Given the description of an element on the screen output the (x, y) to click on. 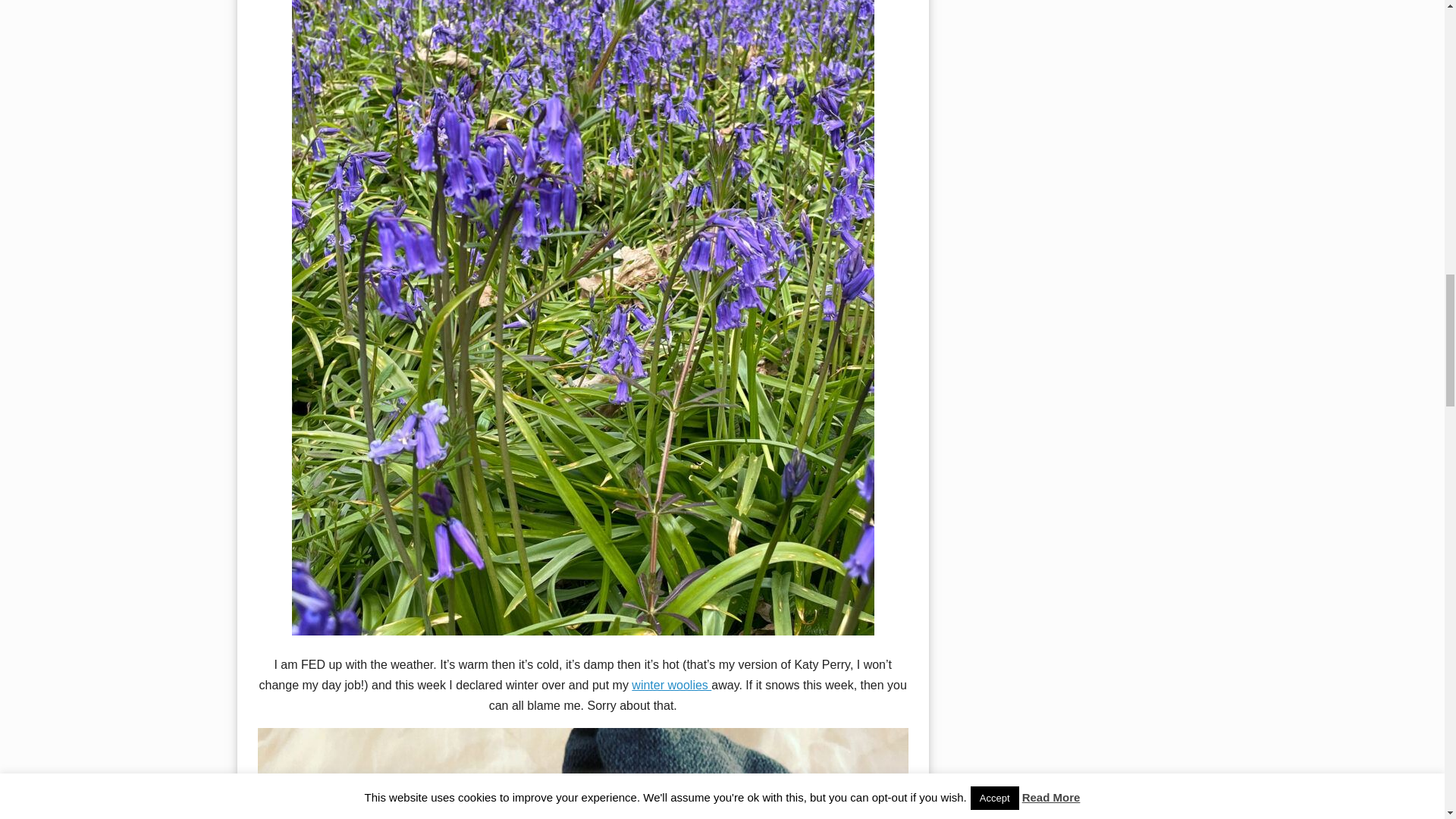
winter woolies (671, 684)
